Given the description of an element on the screen output the (x, y) to click on. 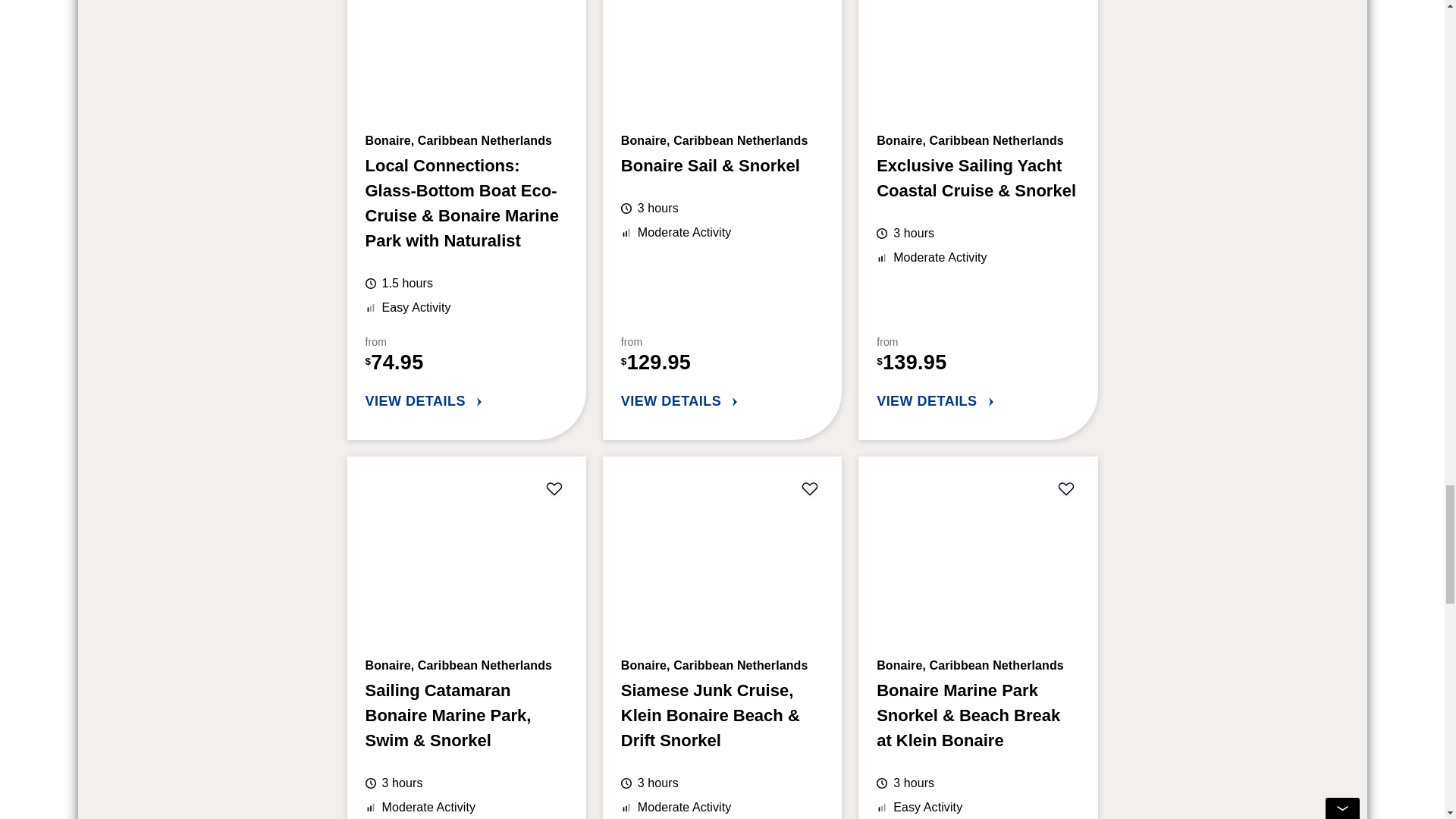
VIEW DETAILS (977, 401)
VIEW DETAILS (466, 401)
VIEW DETAILS (722, 401)
